Given the description of an element on the screen output the (x, y) to click on. 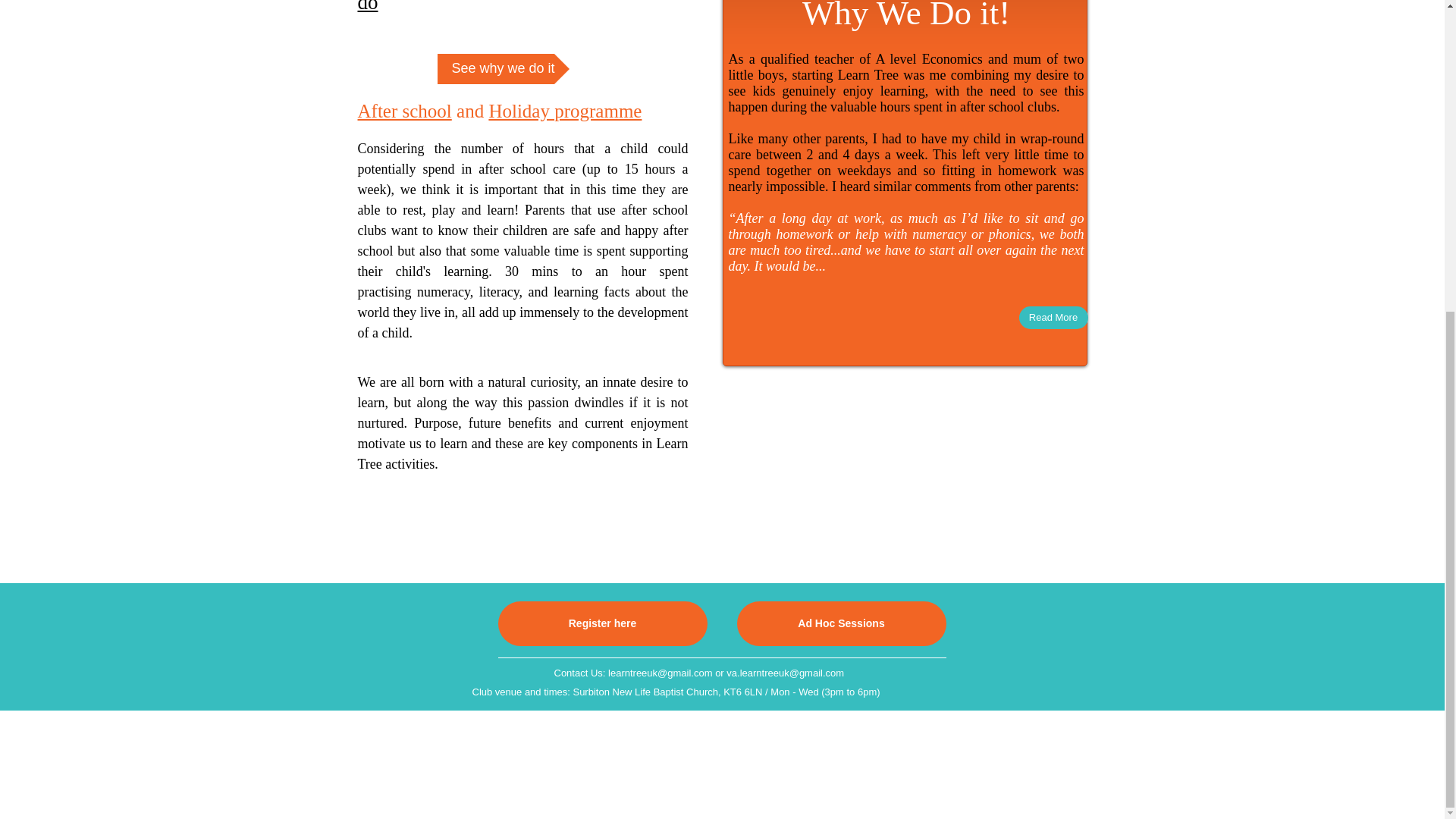
After school (404, 110)
Read More (1053, 317)
Register here (601, 623)
Holiday programme (564, 110)
Ad Hoc Sessions (841, 623)
See why we do it (502, 69)
what we do (520, 6)
